Given the description of an element on the screen output the (x, y) to click on. 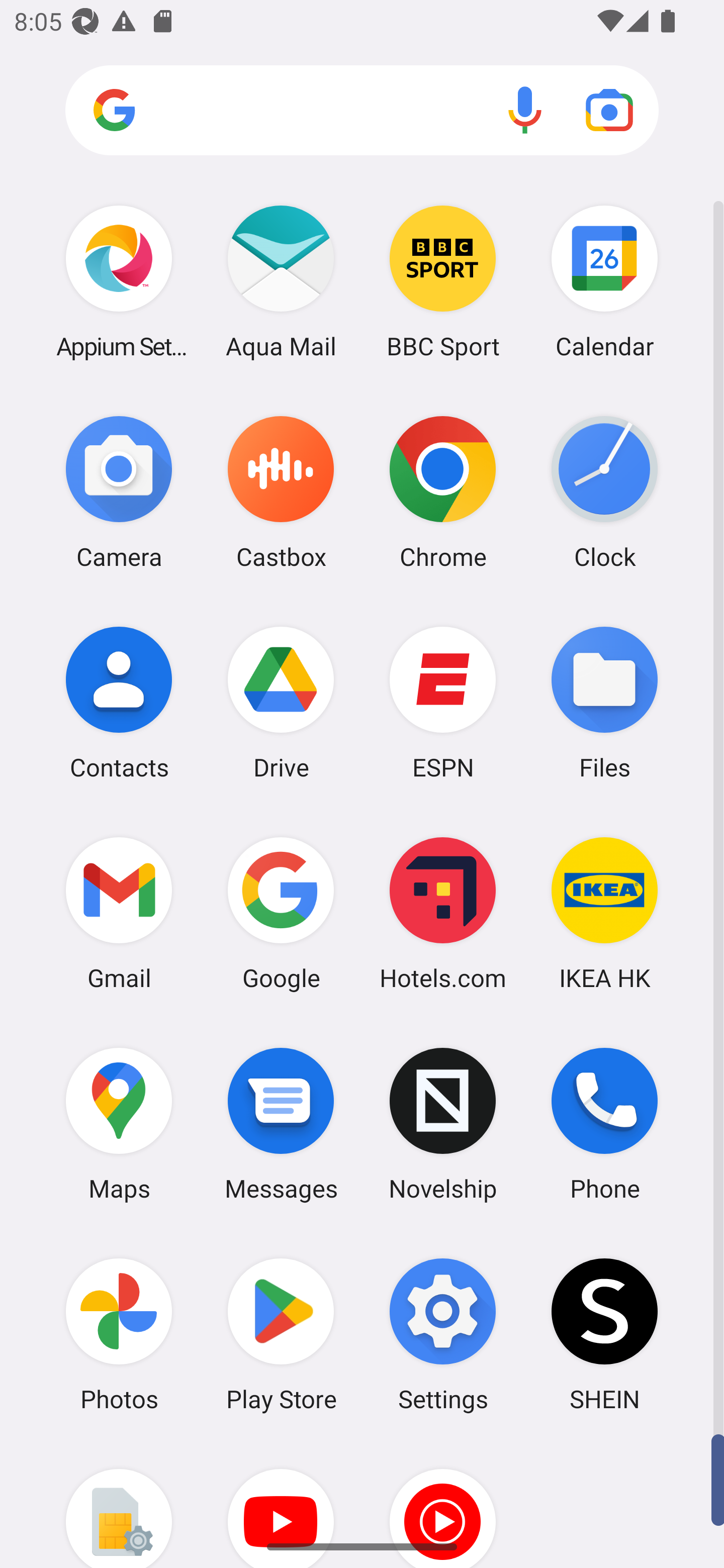
Search apps, web and more (361, 110)
Voice search (524, 109)
Google Lens (608, 109)
Appium Settings (118, 281)
Aqua Mail (280, 281)
BBC Sport (443, 281)
Calendar (604, 281)
Camera (118, 492)
Castbox (280, 492)
Chrome (443, 492)
Clock (604, 492)
Contacts (118, 702)
Drive (280, 702)
ESPN (443, 702)
Files (604, 702)
Gmail (118, 913)
Google (280, 913)
Hotels.com (443, 913)
IKEA HK (604, 913)
Maps (118, 1124)
Messages (280, 1124)
Novelship (443, 1124)
Phone (604, 1124)
Photos (118, 1334)
Play Store (280, 1334)
Settings (443, 1334)
SHEIN (604, 1334)
TMoble (118, 1503)
YouTube (280, 1503)
YT Music (443, 1503)
